Given the description of an element on the screen output the (x, y) to click on. 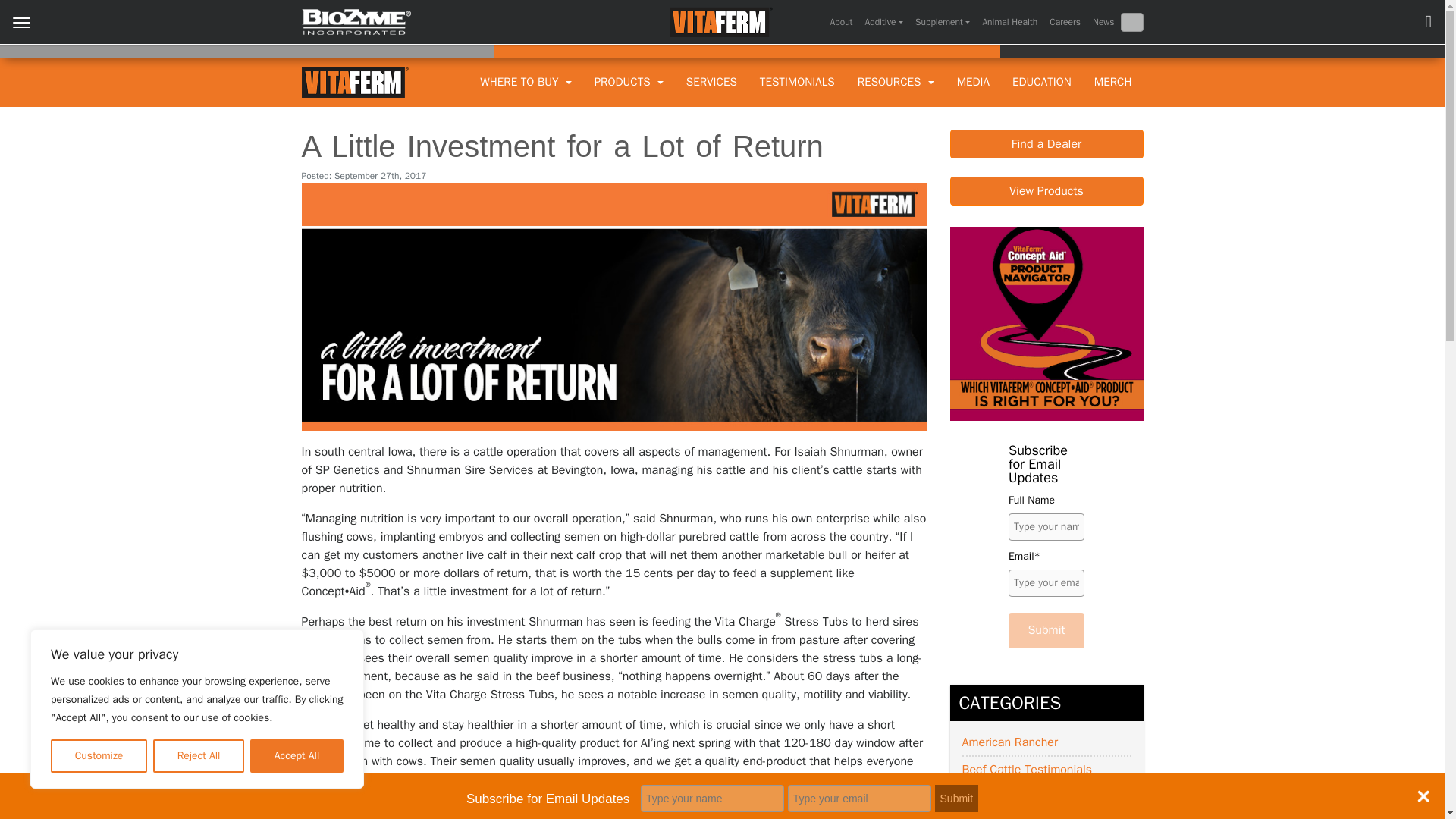
News (1103, 21)
Reject All (198, 756)
Animal Health (1009, 21)
Additives (883, 21)
Animal Health (1009, 21)
Additive (883, 21)
Supplements (941, 21)
Careers (1064, 21)
Customize (98, 756)
About (841, 21)
Supplement (941, 21)
Accept All (296, 756)
About (841, 21)
